Given the description of an element on the screen output the (x, y) to click on. 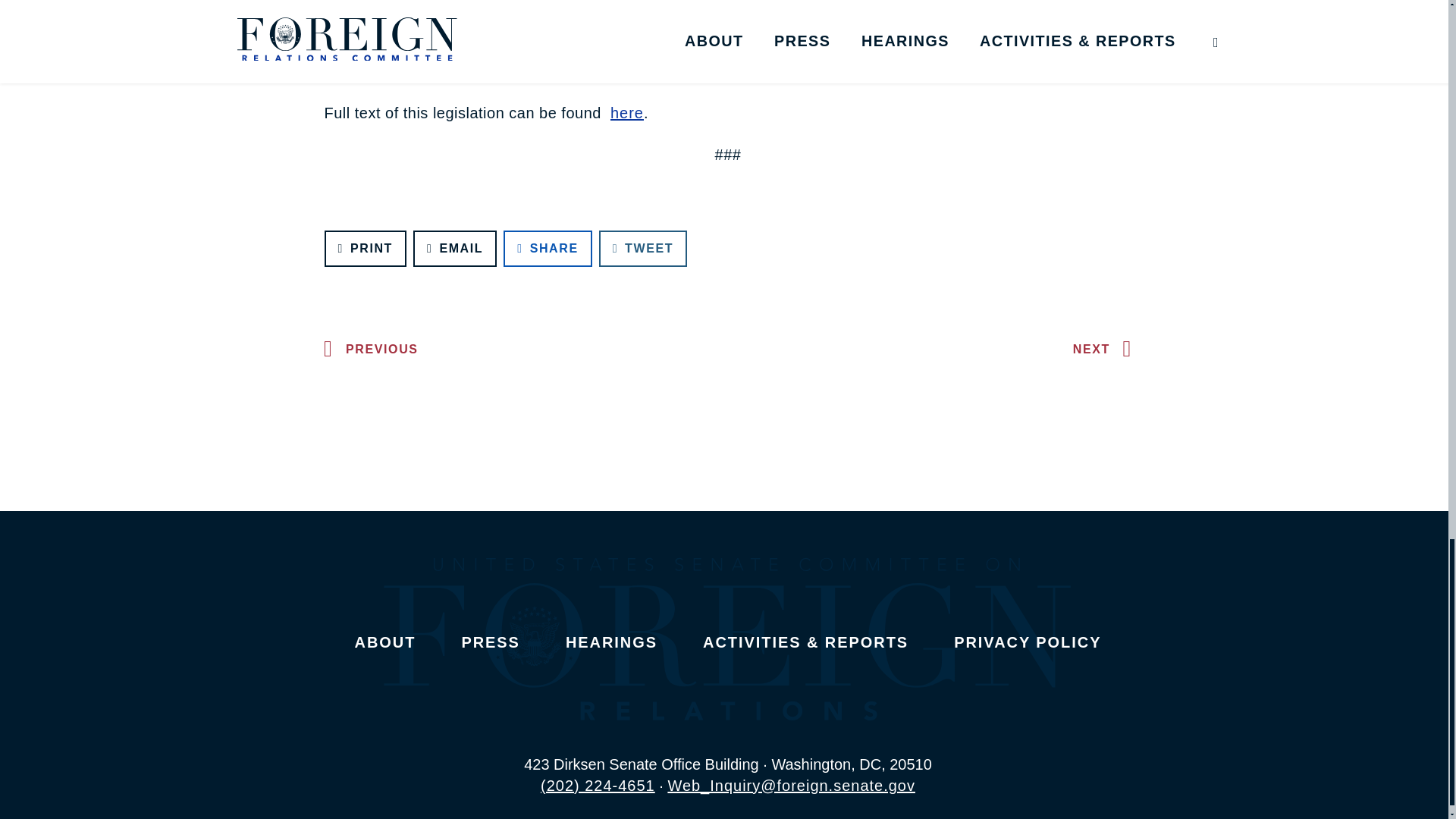
here (626, 112)
Press (490, 641)
About (385, 641)
TWEET (642, 248)
PREVIOUS (367, 348)
Hearings (612, 641)
EMAIL (454, 248)
NEXT (1105, 348)
Privacy Policy (1026, 641)
PRINT (365, 248)
SHARE (547, 248)
